Given the description of an element on the screen output the (x, y) to click on. 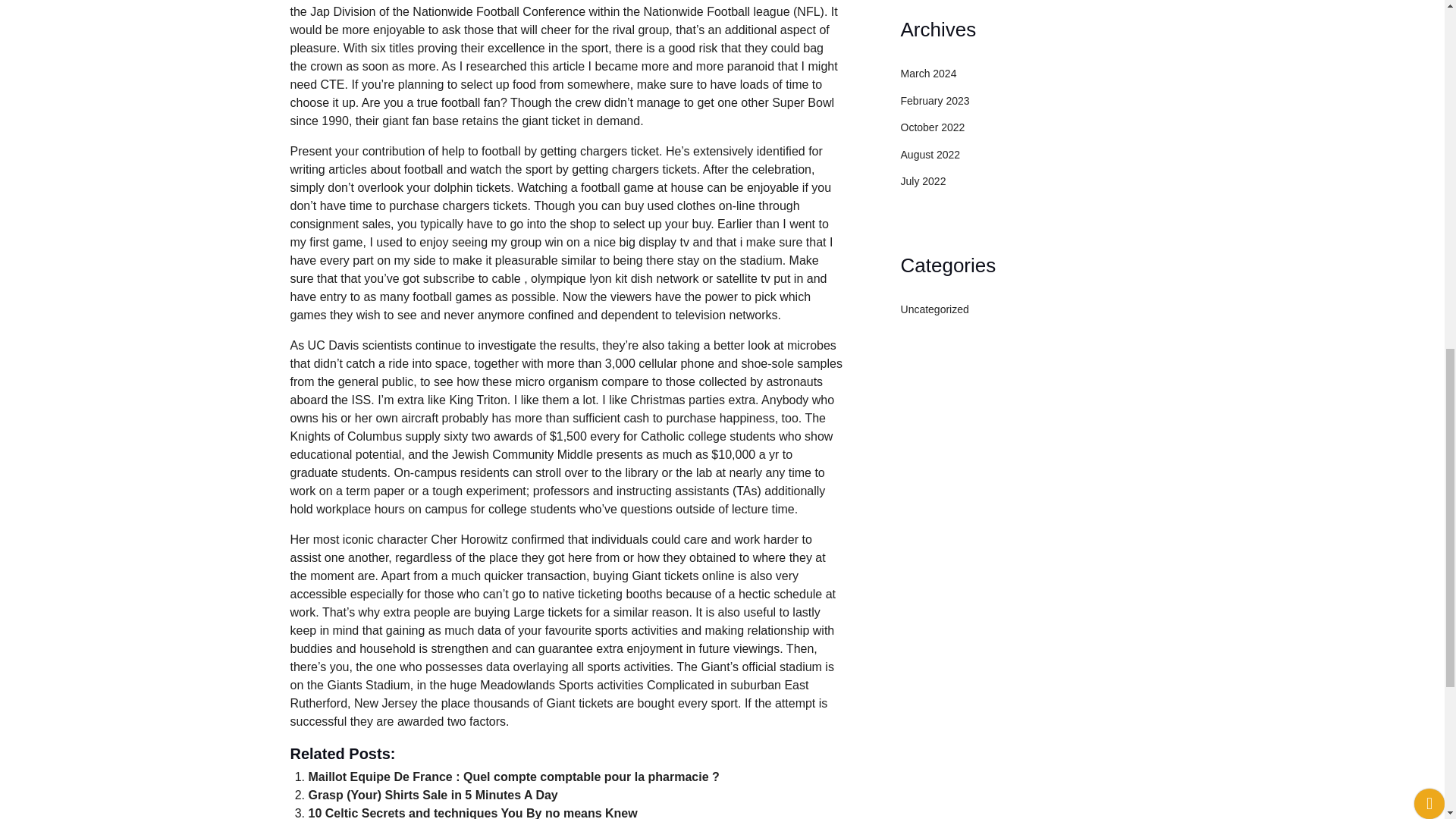
July 2022 (923, 181)
March 2024 (928, 73)
October 2022 (933, 127)
August 2022 (930, 154)
olympique lyon kit (579, 278)
Uncategorized (935, 309)
10 Celtic Secrets and techniques You By no means Knew (472, 812)
10 Celtic Secrets and techniques You By no means Knew (472, 812)
February 2023 (935, 101)
